Given the description of an element on the screen output the (x, y) to click on. 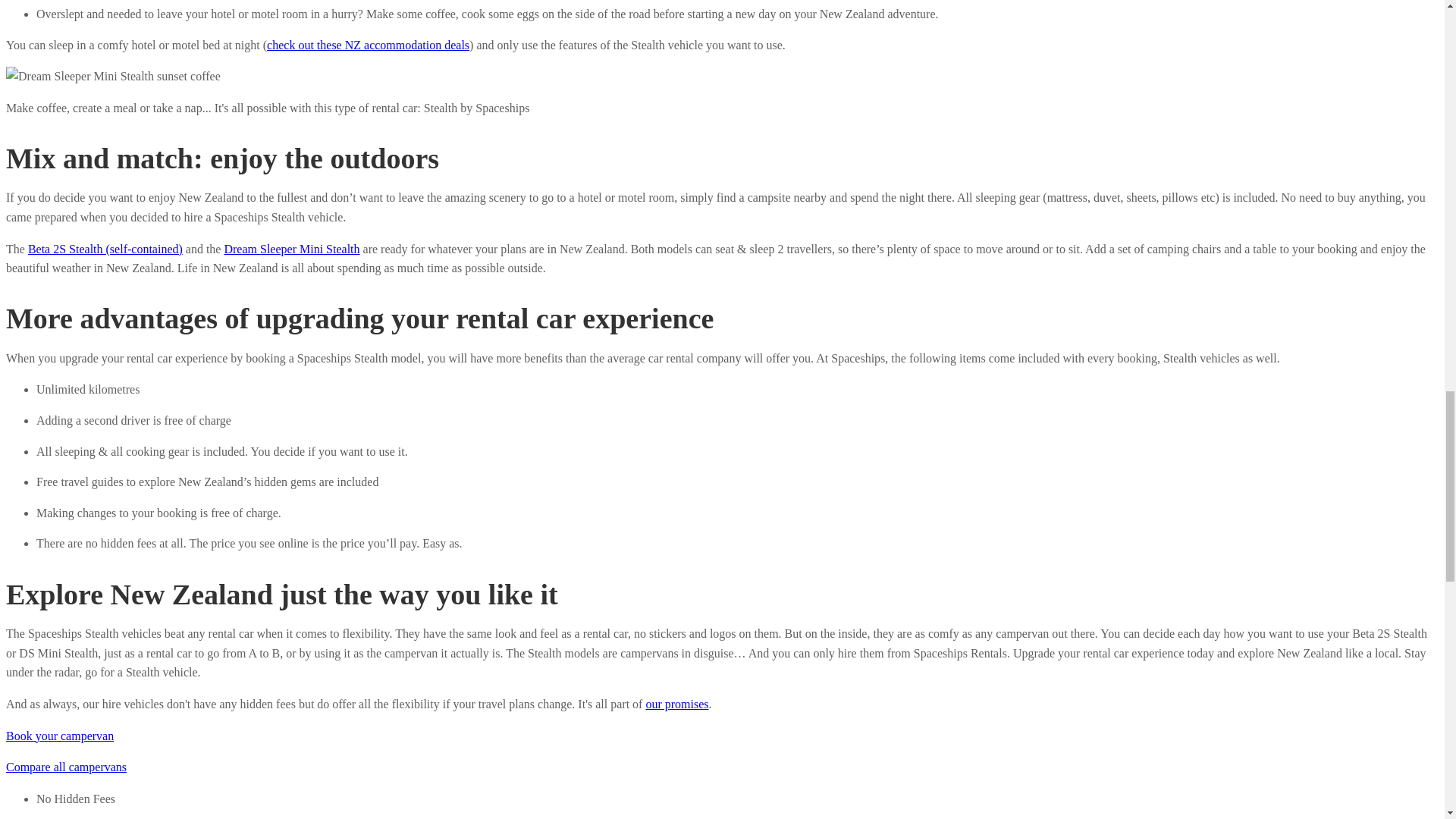
Dream Sleeper Mini Stealth (291, 248)
Book your campervan (59, 735)
Book your campervan online to get the best deal (59, 735)
Find affordable accommodation in New Zealand (367, 44)
our promises (676, 703)
Compare all campervans (65, 766)
See what you can expect from us: we'll take care of you (676, 703)
